Given the description of an element on the screen output the (x, y) to click on. 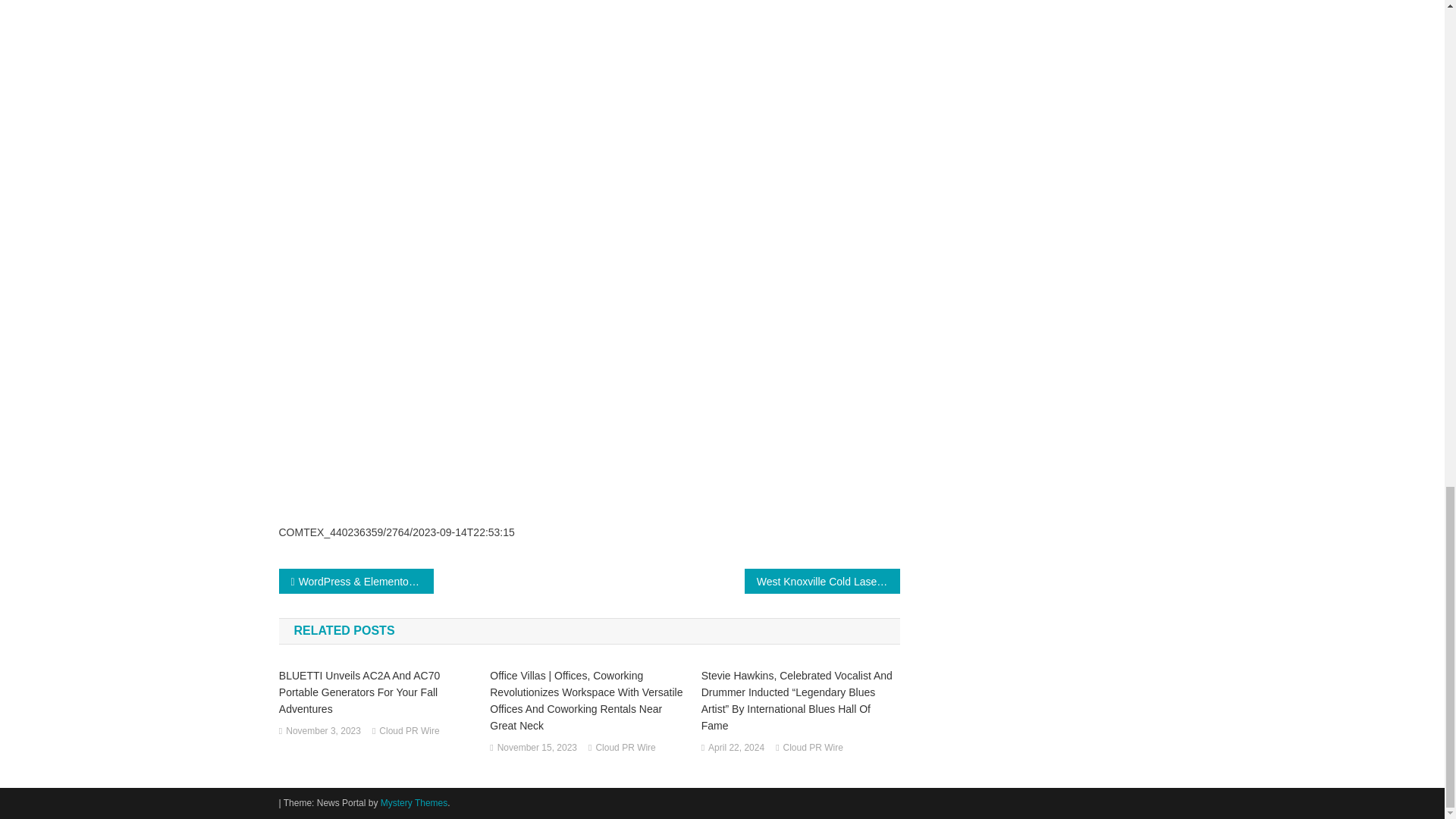
November 3, 2023 (323, 731)
April 22, 2024 (735, 748)
November 15, 2023 (536, 748)
Mystery Themes (413, 802)
Cloud PR Wire (408, 731)
Cloud PR Wire (625, 748)
Cloud PR Wire (813, 748)
